Given the description of an element on the screen output the (x, y) to click on. 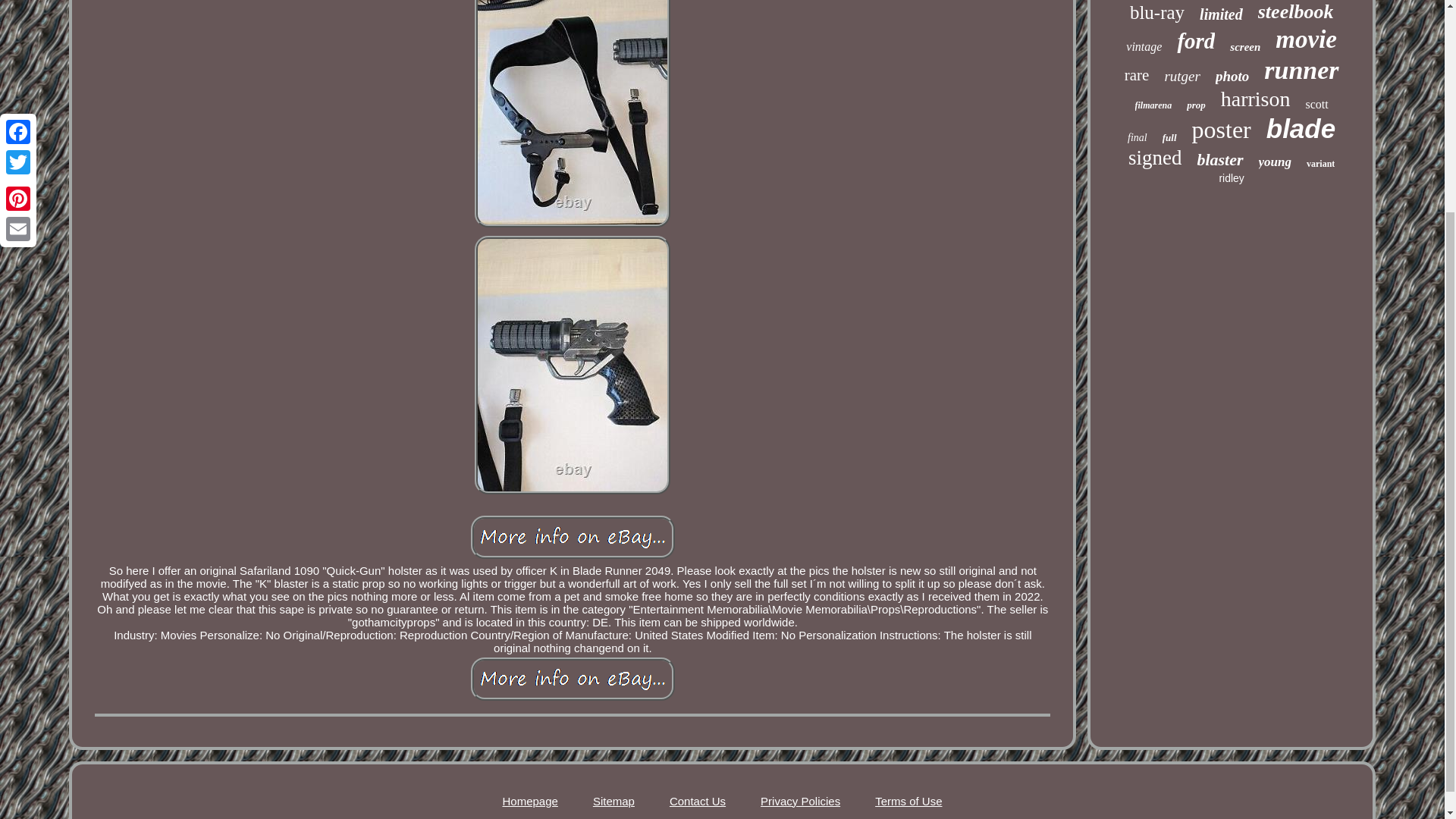
final (1136, 137)
screen (1245, 47)
ford (1195, 41)
runner (1300, 70)
blu-ray (1157, 12)
limited (1221, 14)
scott (1316, 104)
rutger (1181, 76)
rare (1137, 75)
vintage (1143, 47)
